Given the description of an element on the screen output the (x, y) to click on. 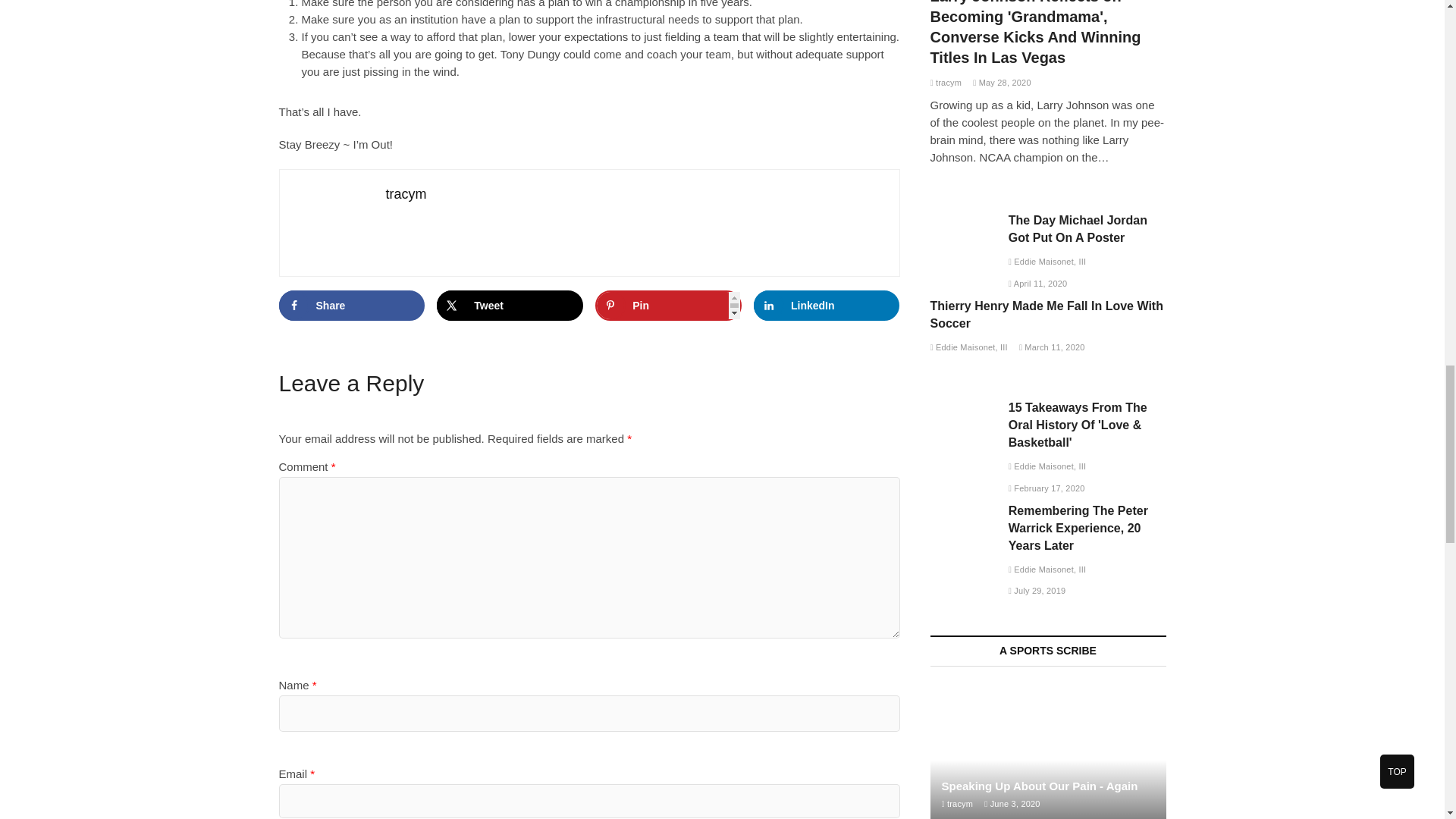
Share on X (509, 305)
Share on Facebook (352, 305)
Share on LinkedIn (826, 305)
Save to Pinterest (668, 305)
